Given the description of an element on the screen output the (x, y) to click on. 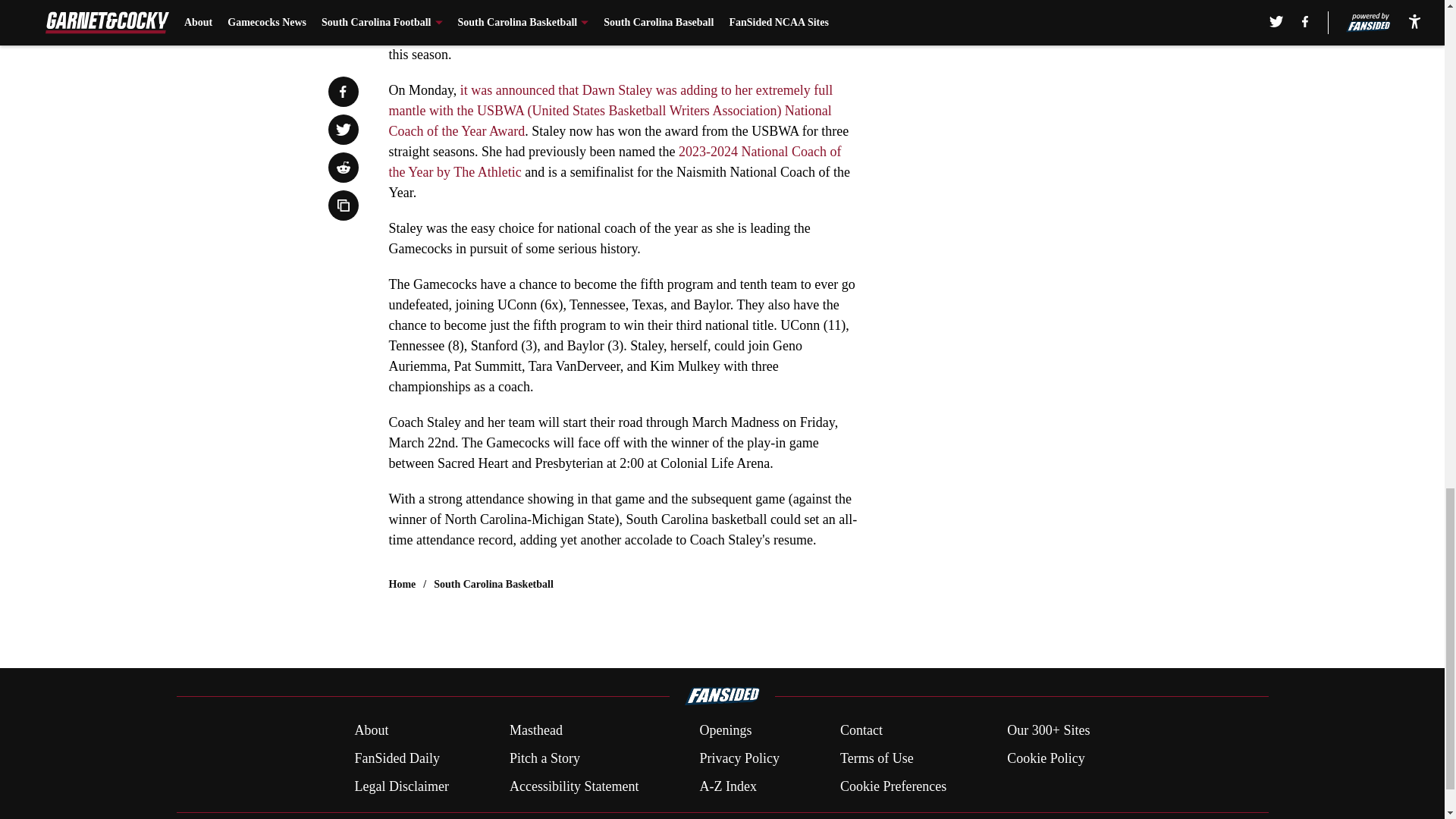
Terms of Use (877, 758)
Legal Disclaimer (400, 786)
Home (401, 584)
FanSided Daily (396, 758)
About (370, 730)
Masthead (535, 730)
South Carolina Basketball (493, 584)
Openings (724, 730)
Cookie Preferences (893, 786)
Cookie Policy (1045, 758)
